Given the description of an element on the screen output the (x, y) to click on. 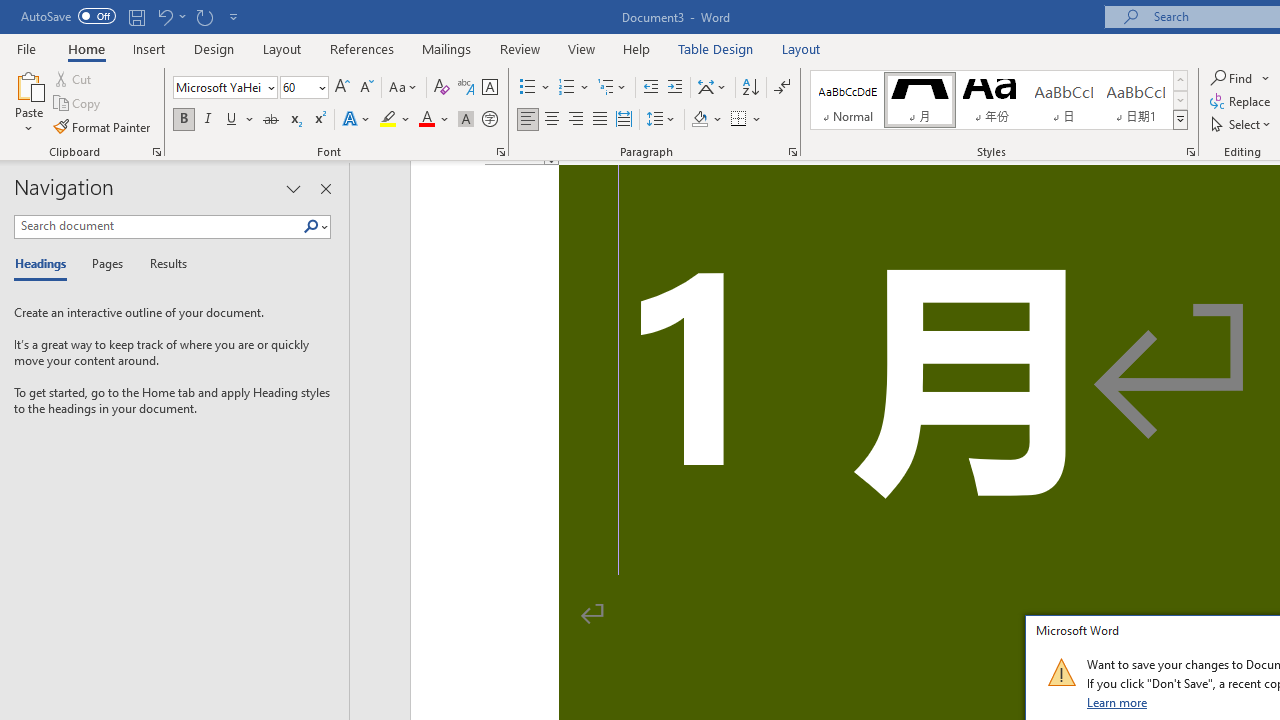
Pages (105, 264)
Results (161, 264)
Shrink Font (365, 87)
Multilevel List (613, 87)
Font Color (434, 119)
Character Border (489, 87)
Sort... (750, 87)
Cut (73, 78)
Clear Formatting (442, 87)
